Given the description of an element on the screen output the (x, y) to click on. 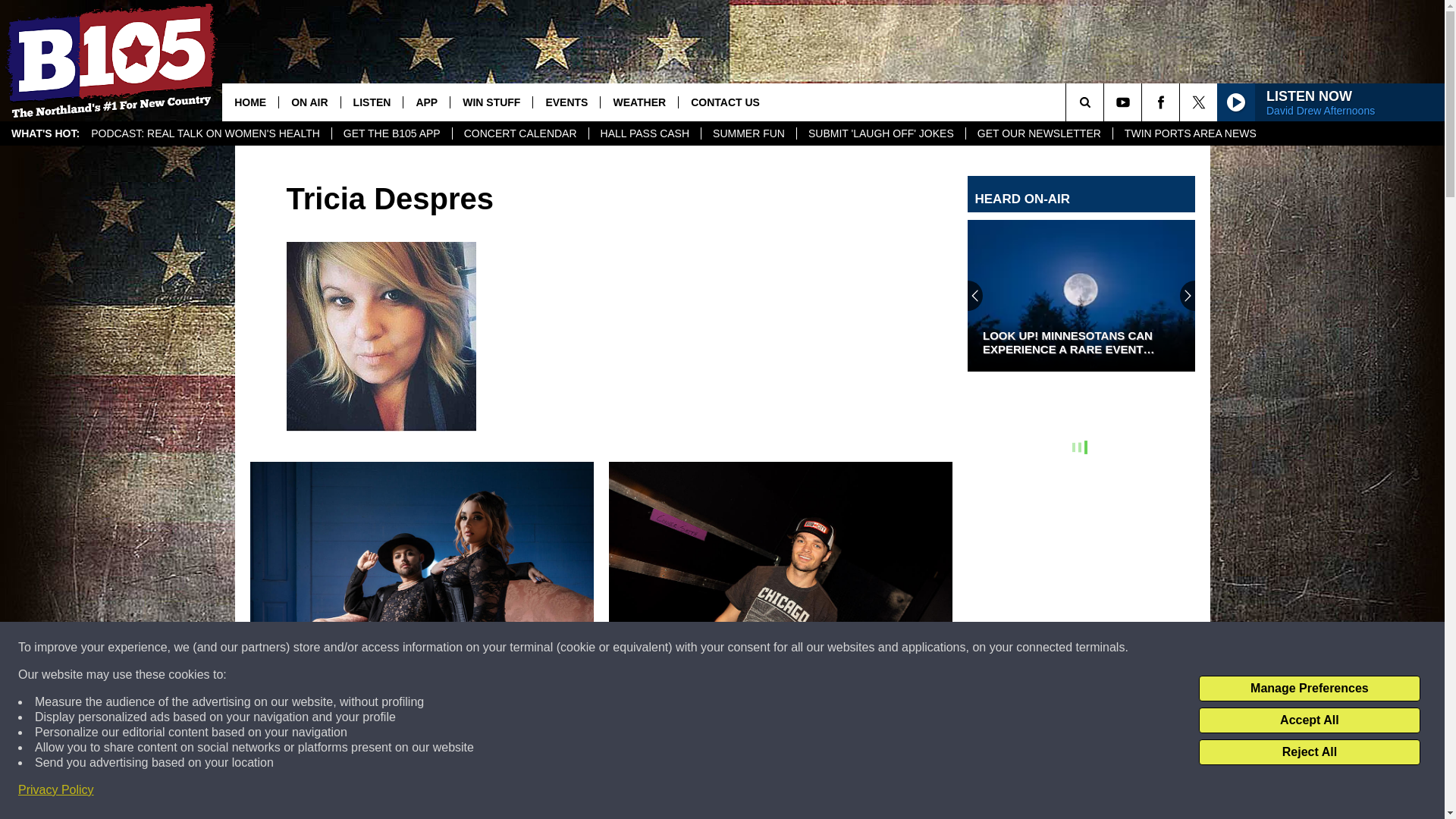
Reject All (1309, 751)
CONCERT CALENDAR (519, 133)
SUMMER FUN (748, 133)
ON AIR (308, 102)
GET THE B105 APP (391, 133)
Privacy Policy (55, 789)
LISTEN (371, 102)
GET OUR NEWSLETTER (1038, 133)
HOME (250, 102)
TWIN PORTS AREA NEWS (1190, 133)
